Given the description of an element on the screen output the (x, y) to click on. 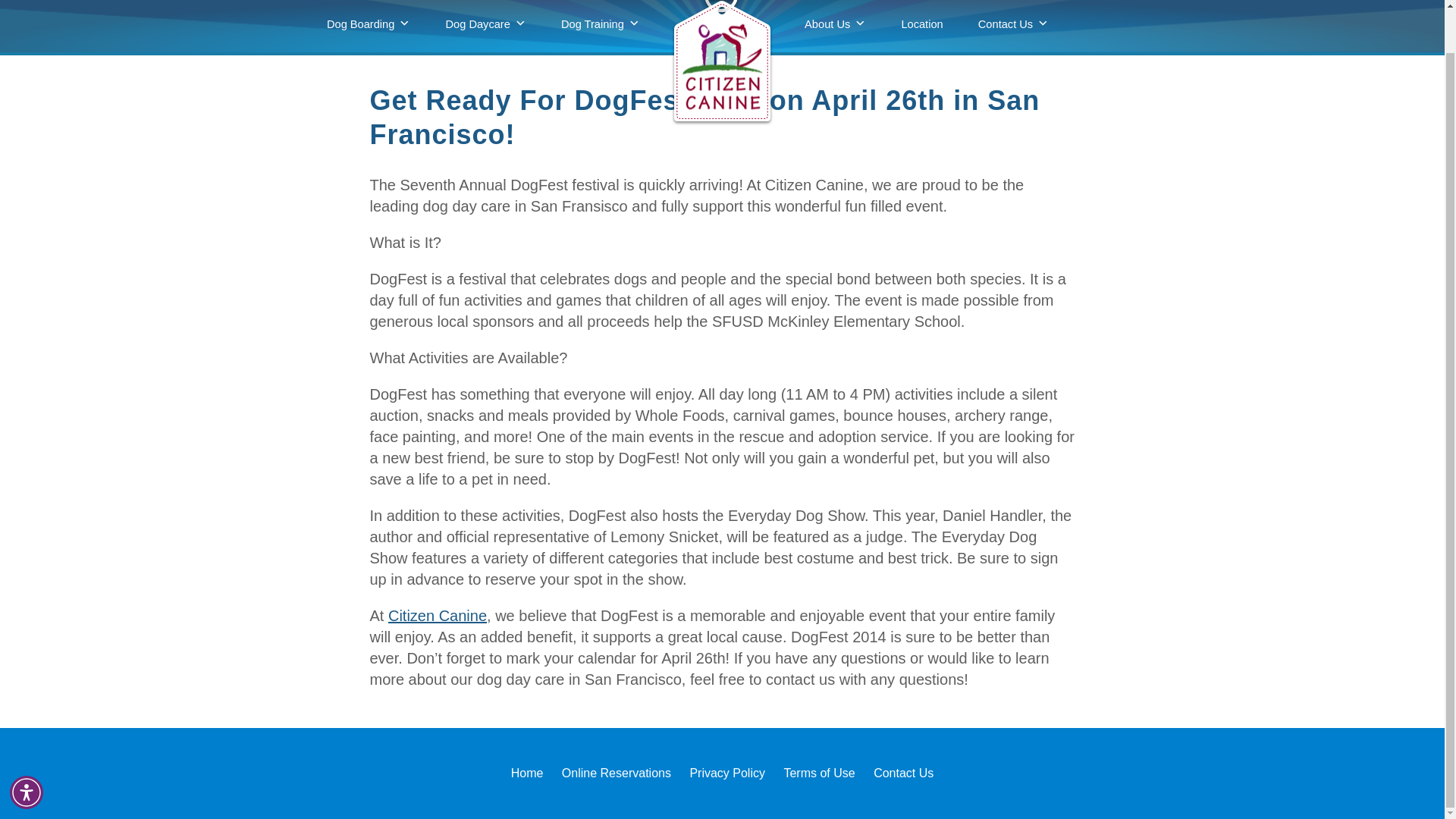
Accessibility Menu (26, 746)
